Given the description of an element on the screen output the (x, y) to click on. 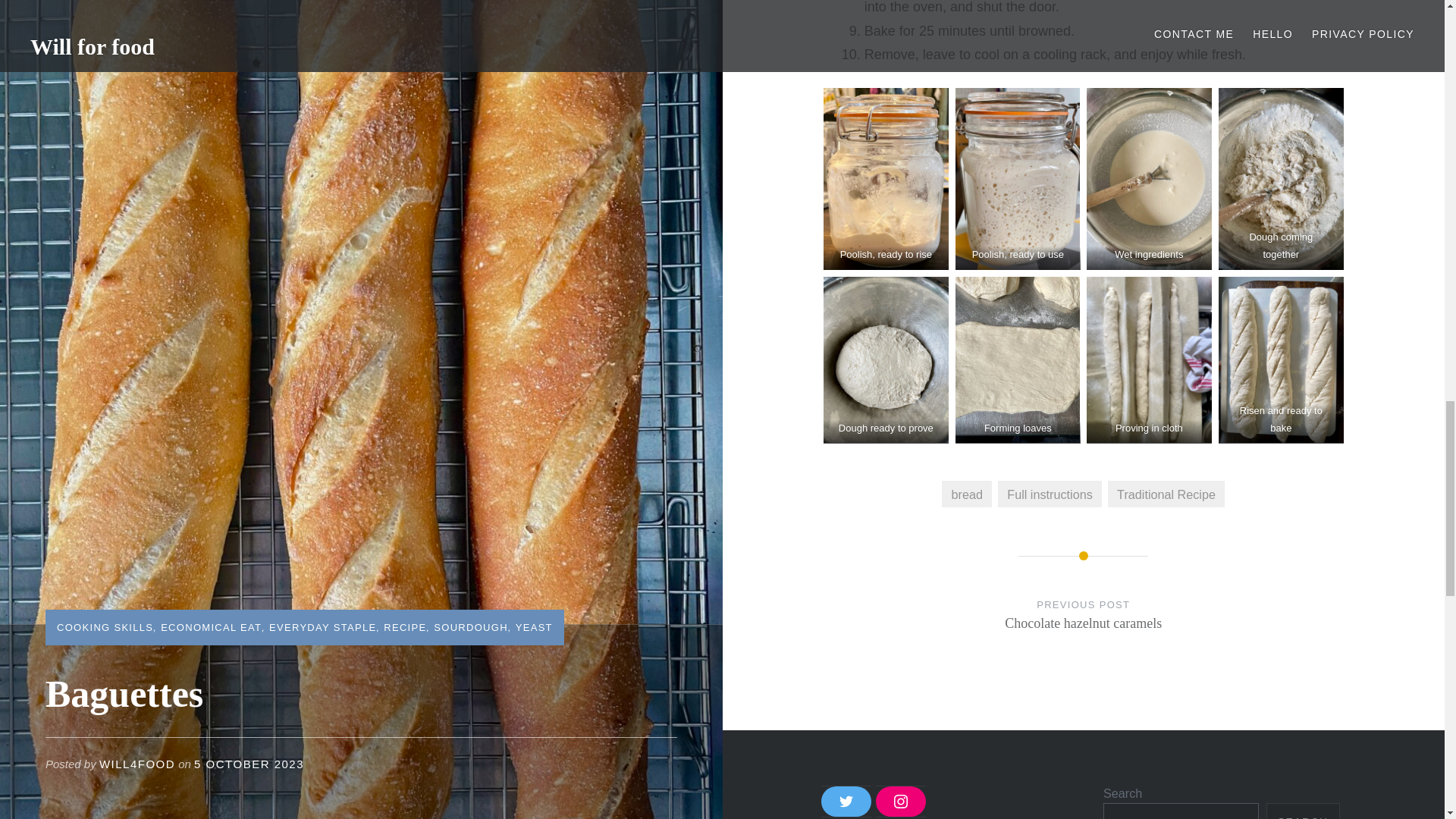
SEARCH (1302, 811)
Instagram (901, 801)
Full instructions (1049, 493)
Traditional Recipe (1166, 493)
Instagram (1083, 629)
Twitter (901, 801)
Twitter (845, 801)
bread (845, 801)
